Given the description of an element on the screen output the (x, y) to click on. 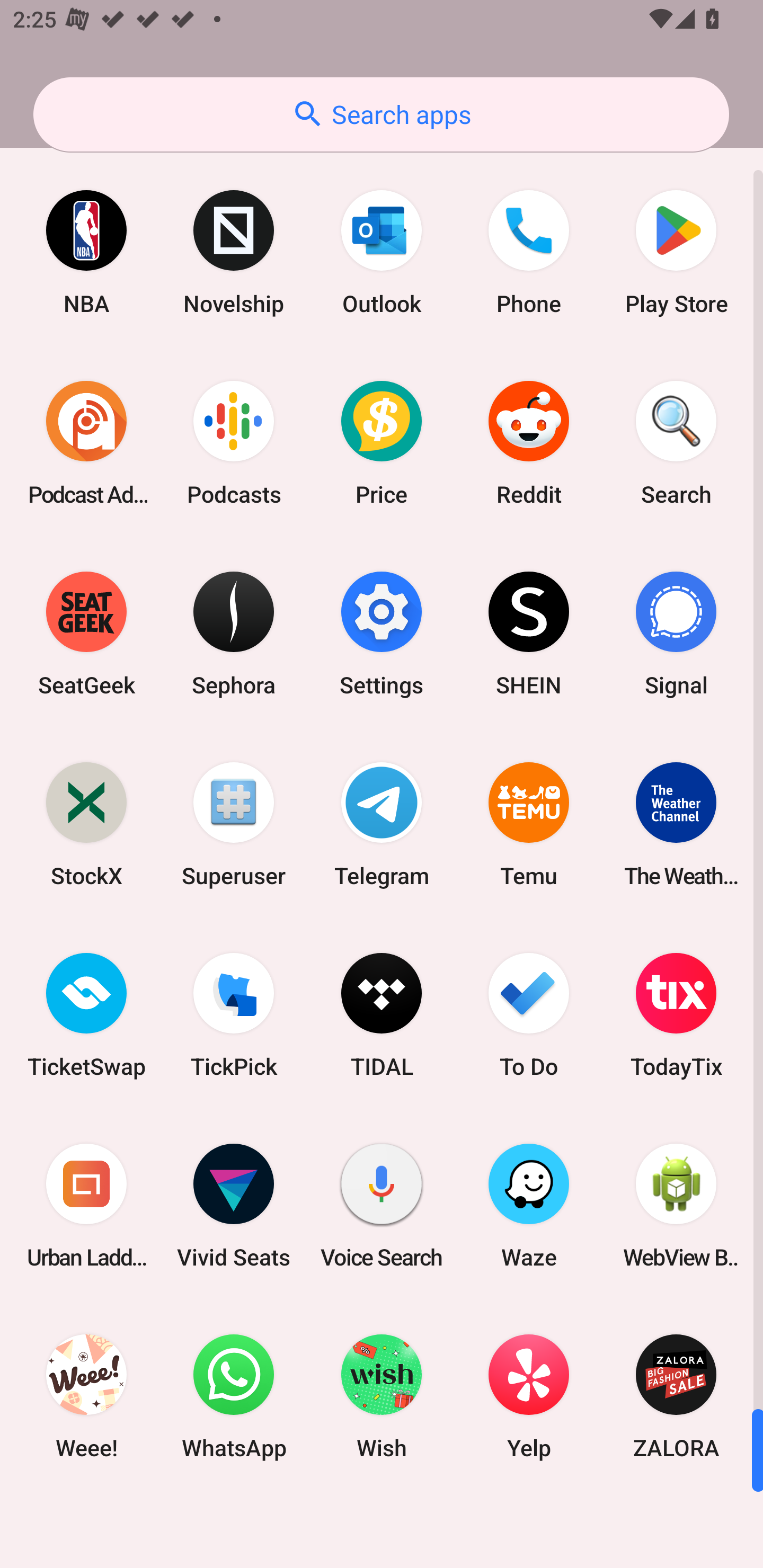
Signal (676, 633)
